Given the description of an element on the screen output the (x, y) to click on. 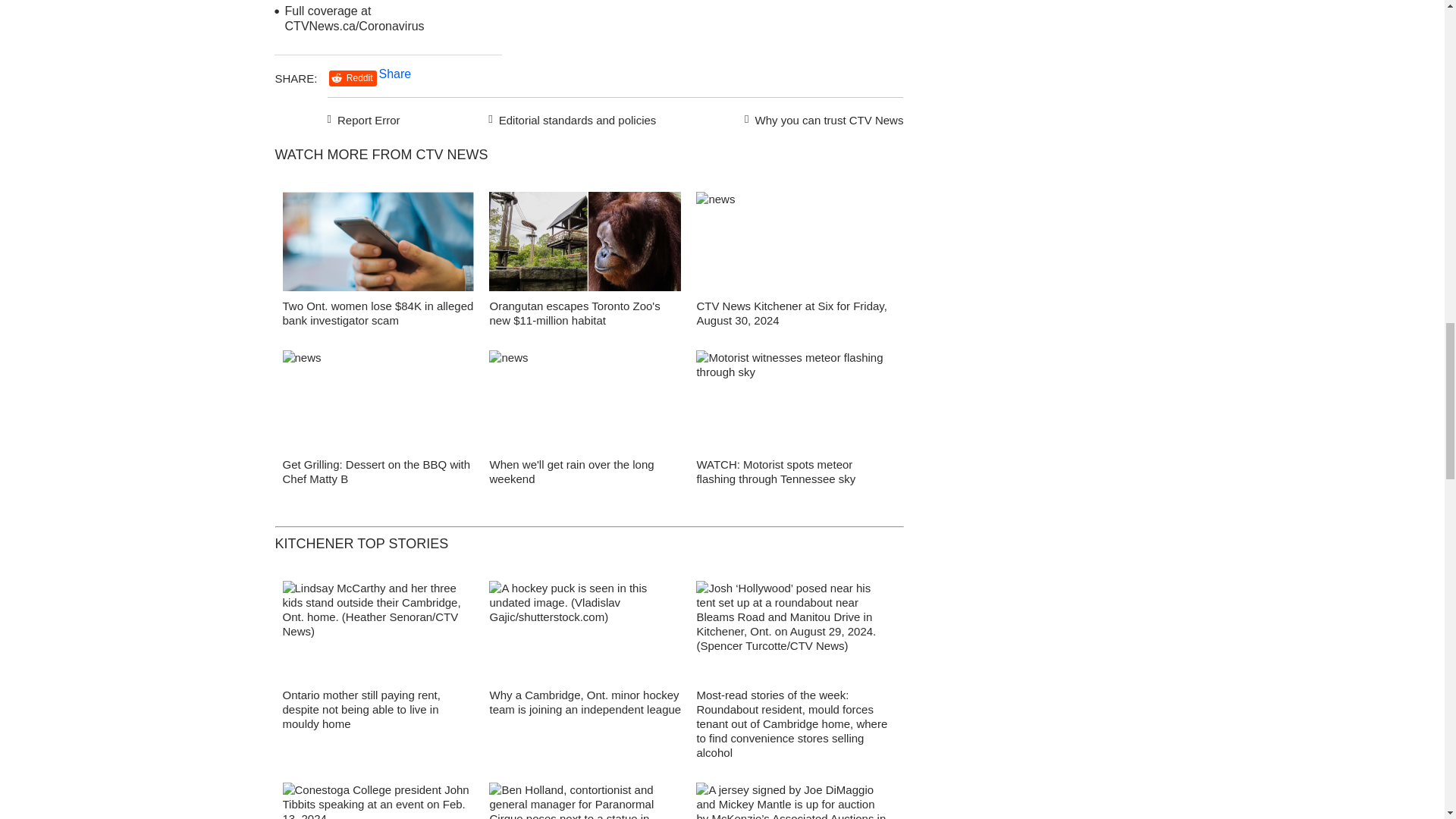
Why you can trust CTV News (820, 118)
Editorial standards and policies (569, 118)
false (585, 241)
false (378, 241)
Report Error (363, 118)
Reddit (353, 78)
Share (395, 73)
